Given the description of an element on the screen output the (x, y) to click on. 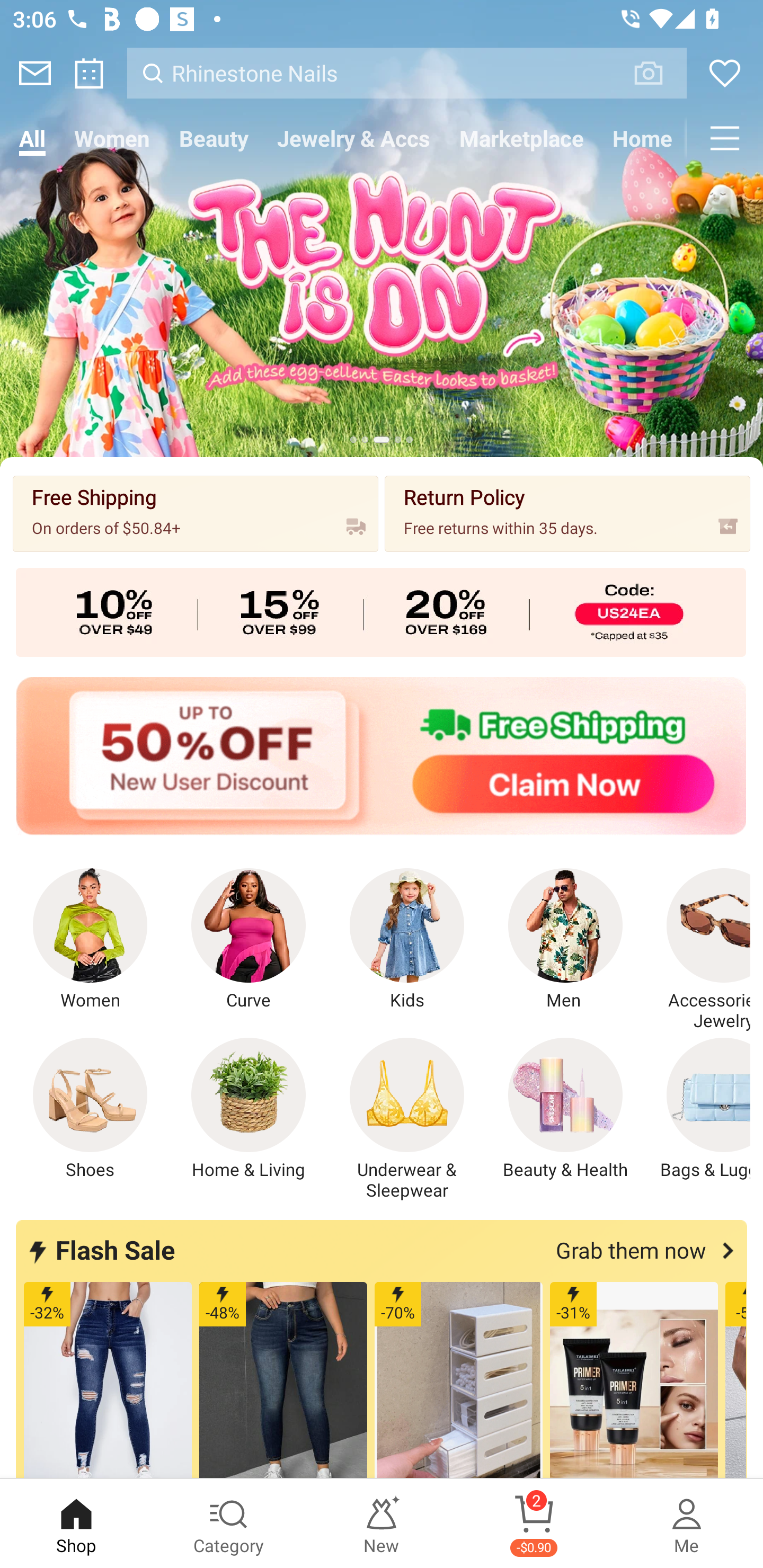
Wishlist (724, 72)
VISUAL SEARCH (657, 72)
All (31, 137)
Women (111, 137)
Beauty (213, 137)
Jewelry & Accs (353, 137)
Marketplace (521, 137)
Home (642, 137)
Free Shipping On orders of $50.84+ (195, 513)
Return Policy Free returns within 35 days. (567, 513)
Women (89, 939)
Curve (248, 939)
Kids (406, 939)
Men  (565, 939)
Accessories & Jewelry (698, 949)
Shoes (89, 1109)
Home & Living (248, 1109)
Underwear & Sleepwear (406, 1119)
Beauty & Health (565, 1109)
Bags & Luggage (698, 1109)
Category (228, 1523)
New (381, 1523)
Cart 2 -$0.90 (533, 1523)
Me (686, 1523)
